Given the description of an element on the screen output the (x, y) to click on. 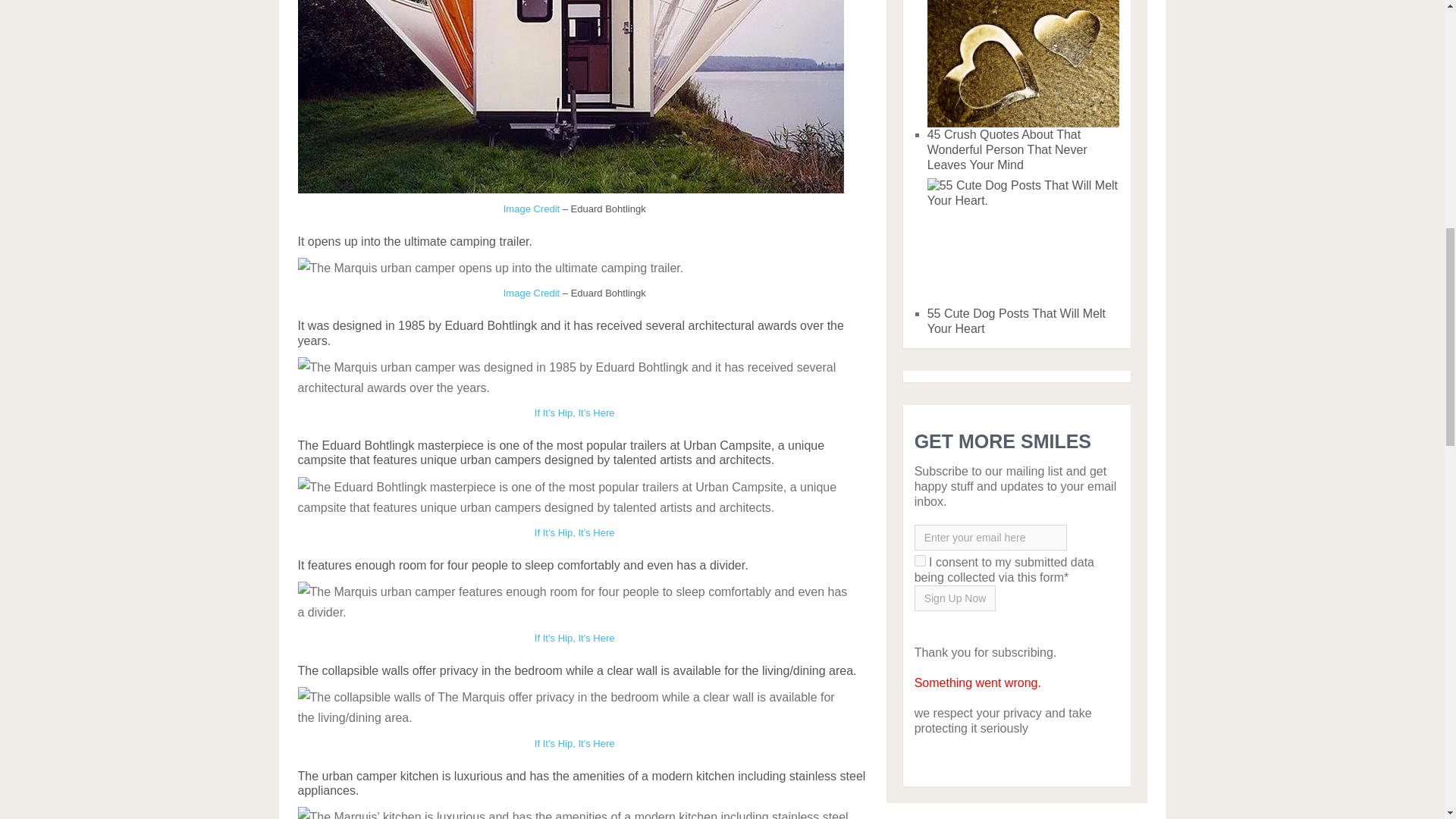
on (920, 560)
Image Credit (532, 208)
Enter your email here (990, 537)
Sign Up Now (954, 597)
